Given the description of an element on the screen output the (x, y) to click on. 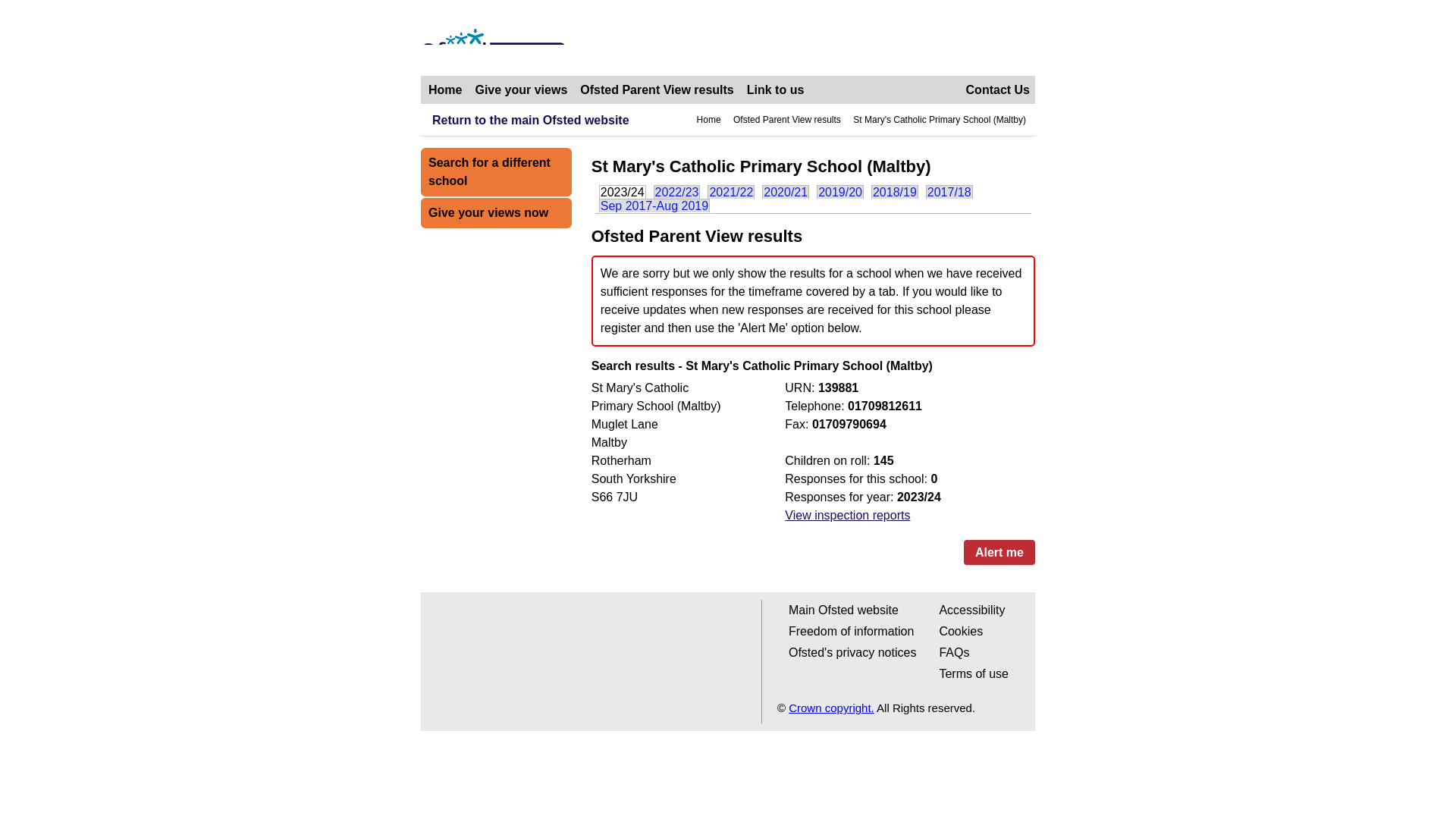
Freedom of information (850, 631)
Accessibility (971, 609)
Contact Us (997, 90)
Ofsted Parent View results (787, 119)
FAQs (953, 652)
Return to the main Ofsted website (524, 120)
Main Ofsted website (843, 609)
Main Ofsted website (843, 609)
Sep 2017-Aug 2019 (654, 205)
Home (444, 90)
